Given the description of an element on the screen output the (x, y) to click on. 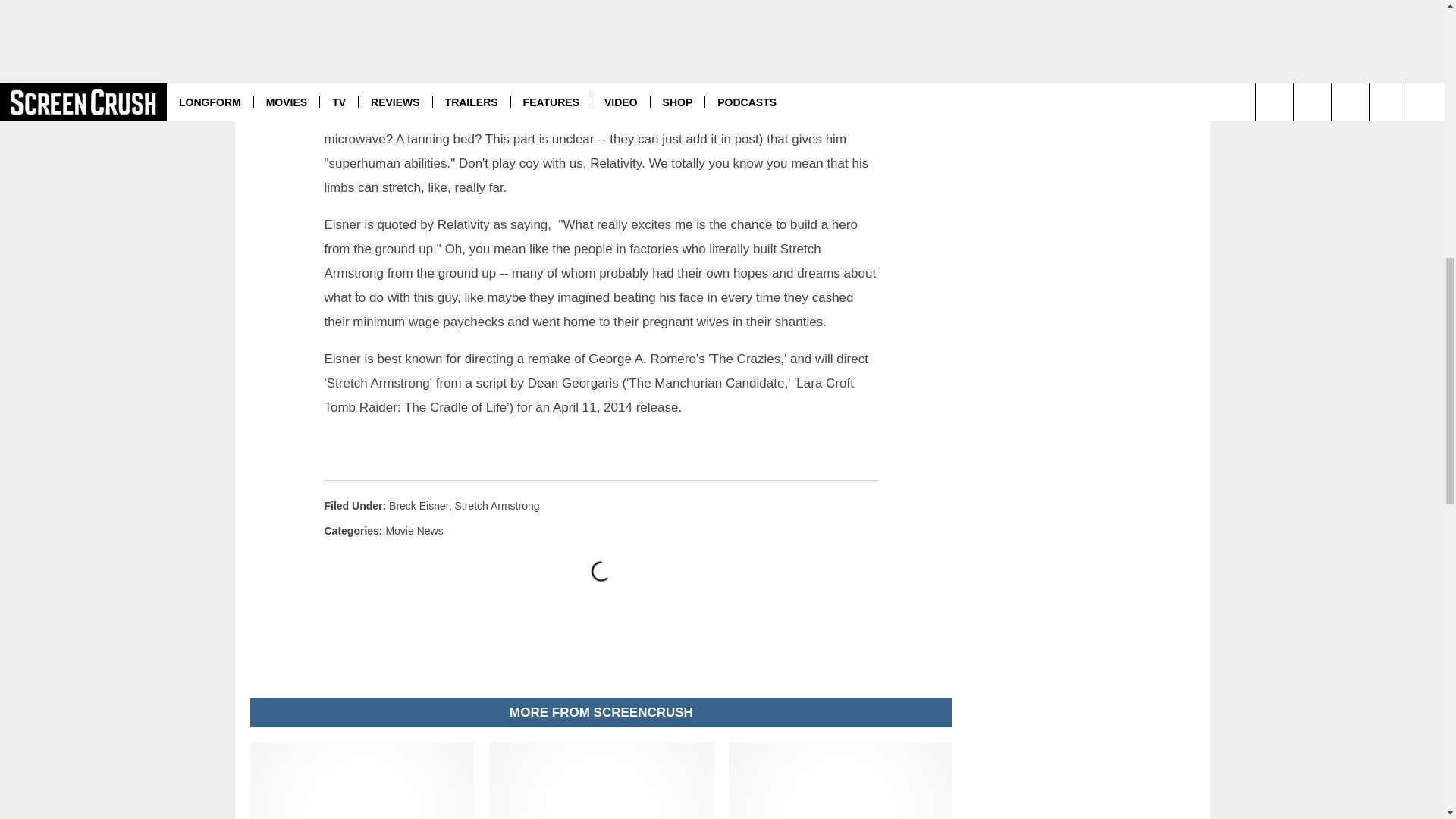
Breck Eisner (418, 505)
Stretch Armstrong (496, 505)
Movie News (413, 530)
